Given the description of an element on the screen output the (x, y) to click on. 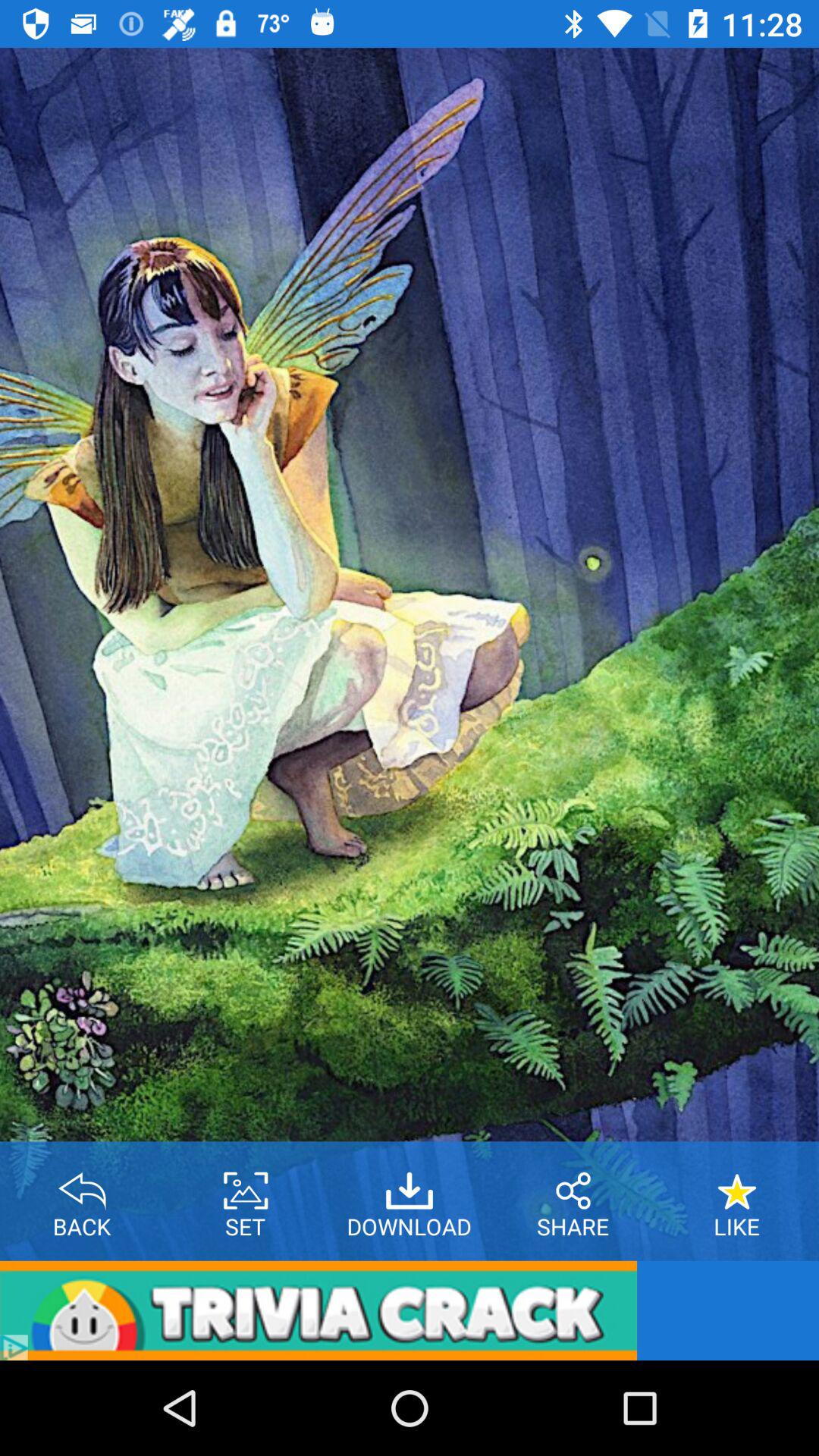
go back (81, 1185)
